Given the description of an element on the screen output the (x, y) to click on. 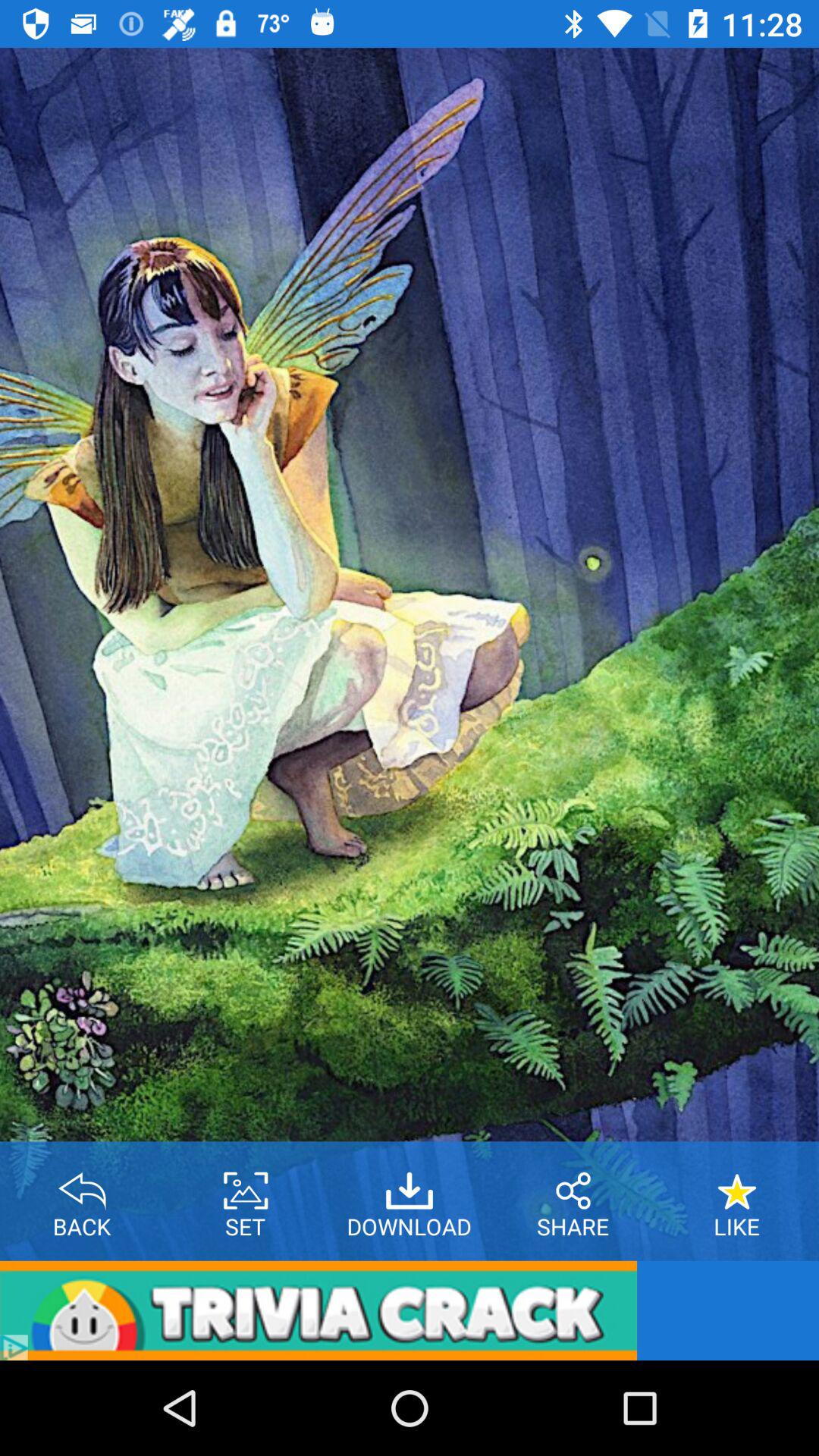
go back (81, 1185)
